Given the description of an element on the screen output the (x, y) to click on. 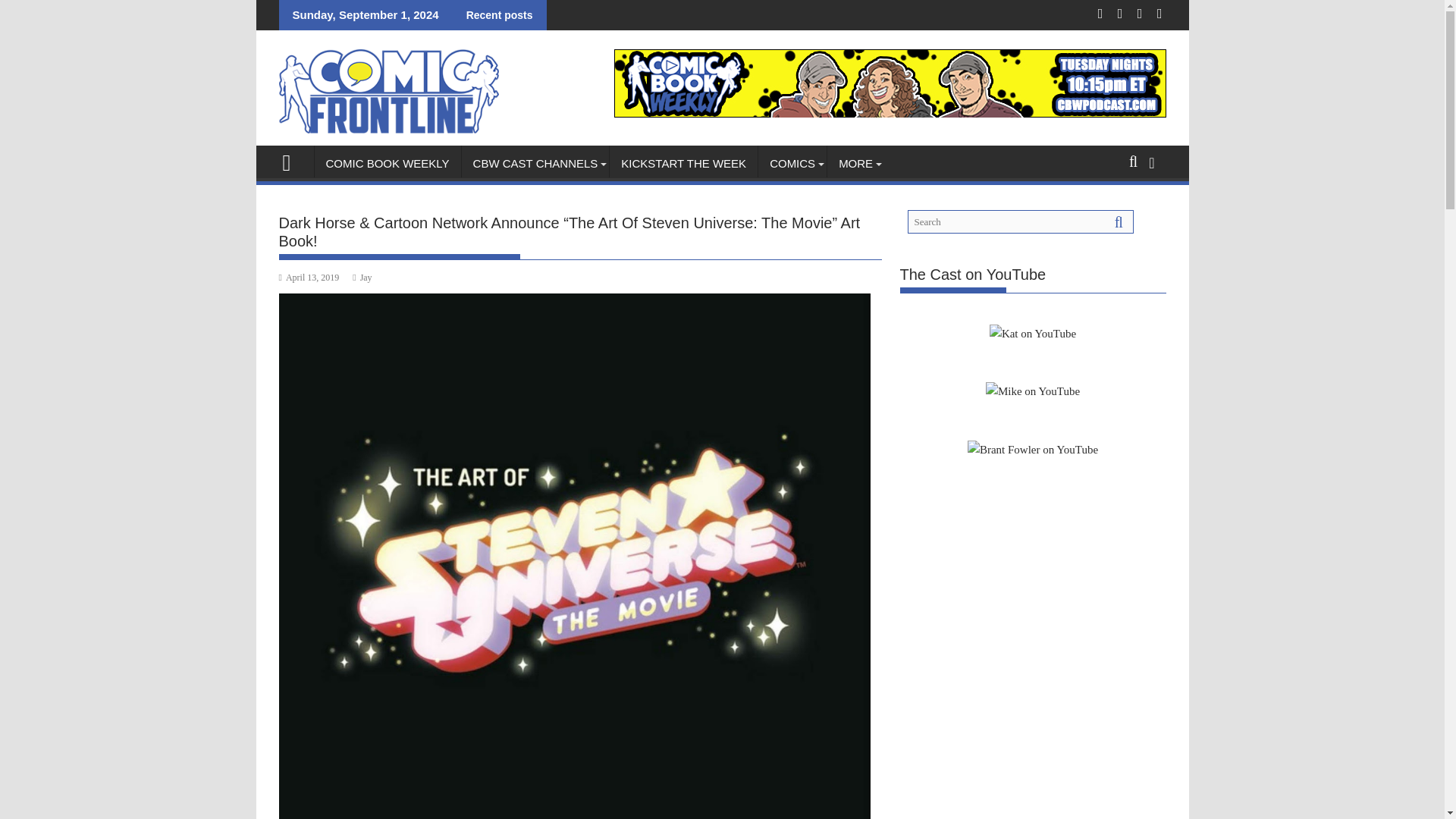
CBW CAST CHANNELS (535, 163)
COMIC BOOK WEEKLY (387, 163)
Comic Frontline (293, 160)
MORE (855, 163)
COMICS (792, 163)
KICKSTART THE WEEK (683, 163)
